Given the description of an element on the screen output the (x, y) to click on. 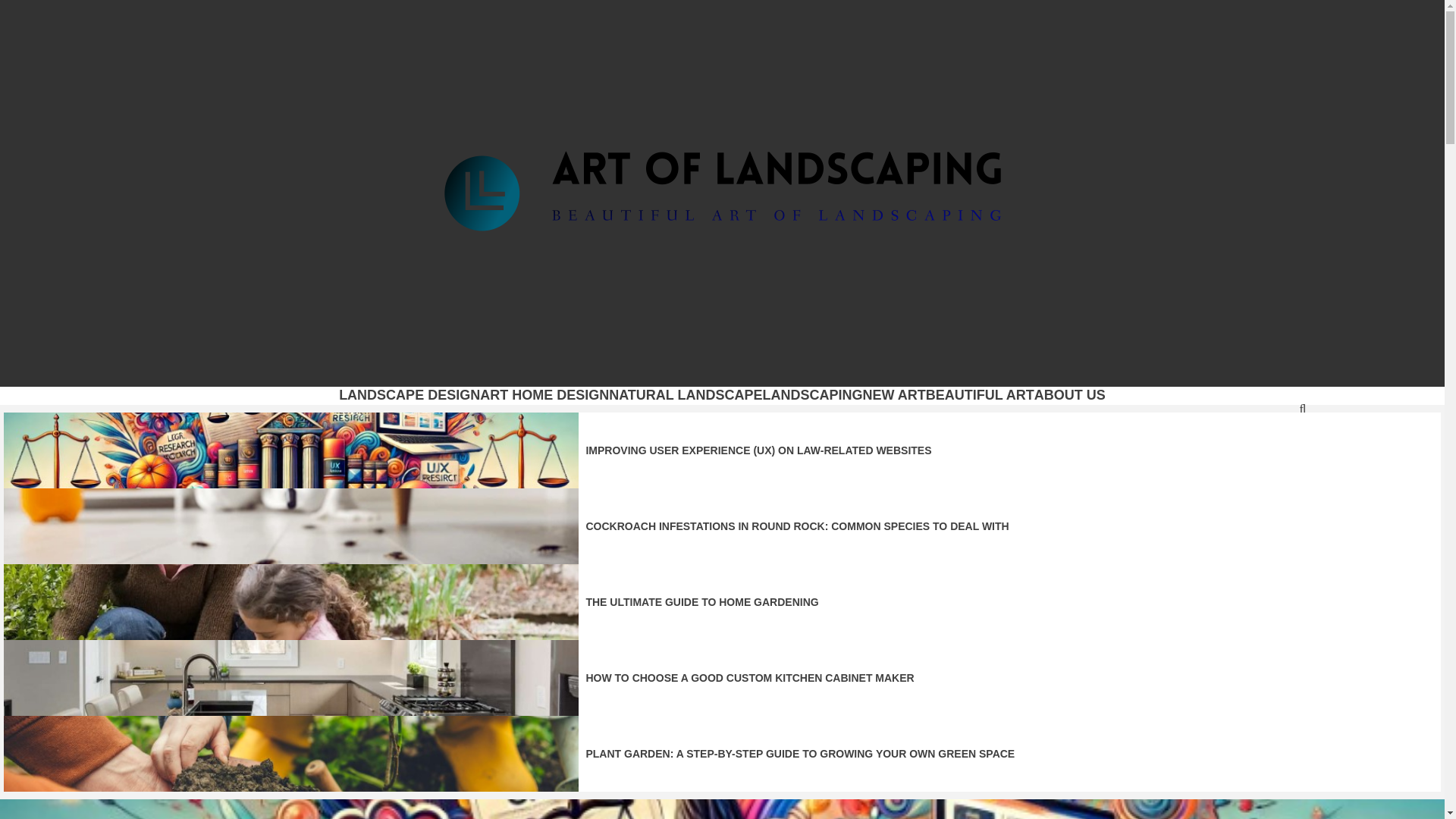
How To Choose A Good Custom Kitchen Cabinet Maker (291, 677)
HOW TO CHOOSE A GOOD CUSTOM KITCHEN CABINET MAKER (749, 677)
NATURAL LANDSCAPE (684, 394)
LANDSCAPING (812, 394)
LANDSCAPE DESIGN (409, 394)
ABOUT US (1069, 394)
NEW ART (894, 394)
ART OF LANDSCAPING (571, 367)
The Ultimate Guide to Home Gardening (291, 601)
ART HOME DESIGN (544, 394)
THE ULTIMATE GUIDE TO HOME GARDENING (701, 602)
BEAUTIFUL ART (979, 394)
